Given the description of an element on the screen output the (x, y) to click on. 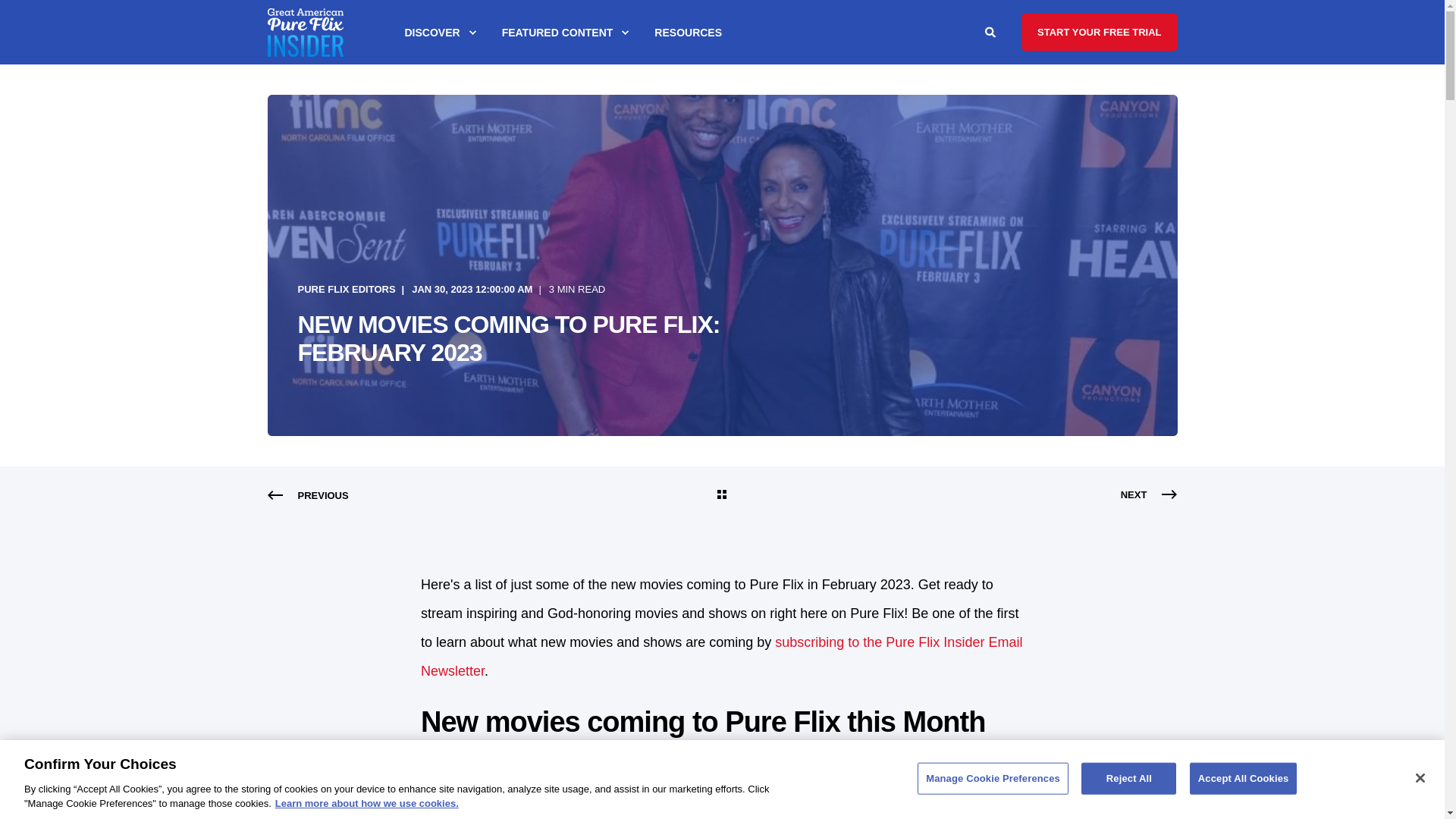
NEXT (1149, 495)
START YOUR FREE TRIAL (1099, 32)
FEATURED CONTENT (559, 32)
DISCOVER (433, 32)
Button Start Your Free Trial (1099, 32)
RESOURCES (678, 32)
PREVIOUS (306, 496)
PURE FLIX EDITORS (345, 290)
